Given the description of an element on the screen output the (x, y) to click on. 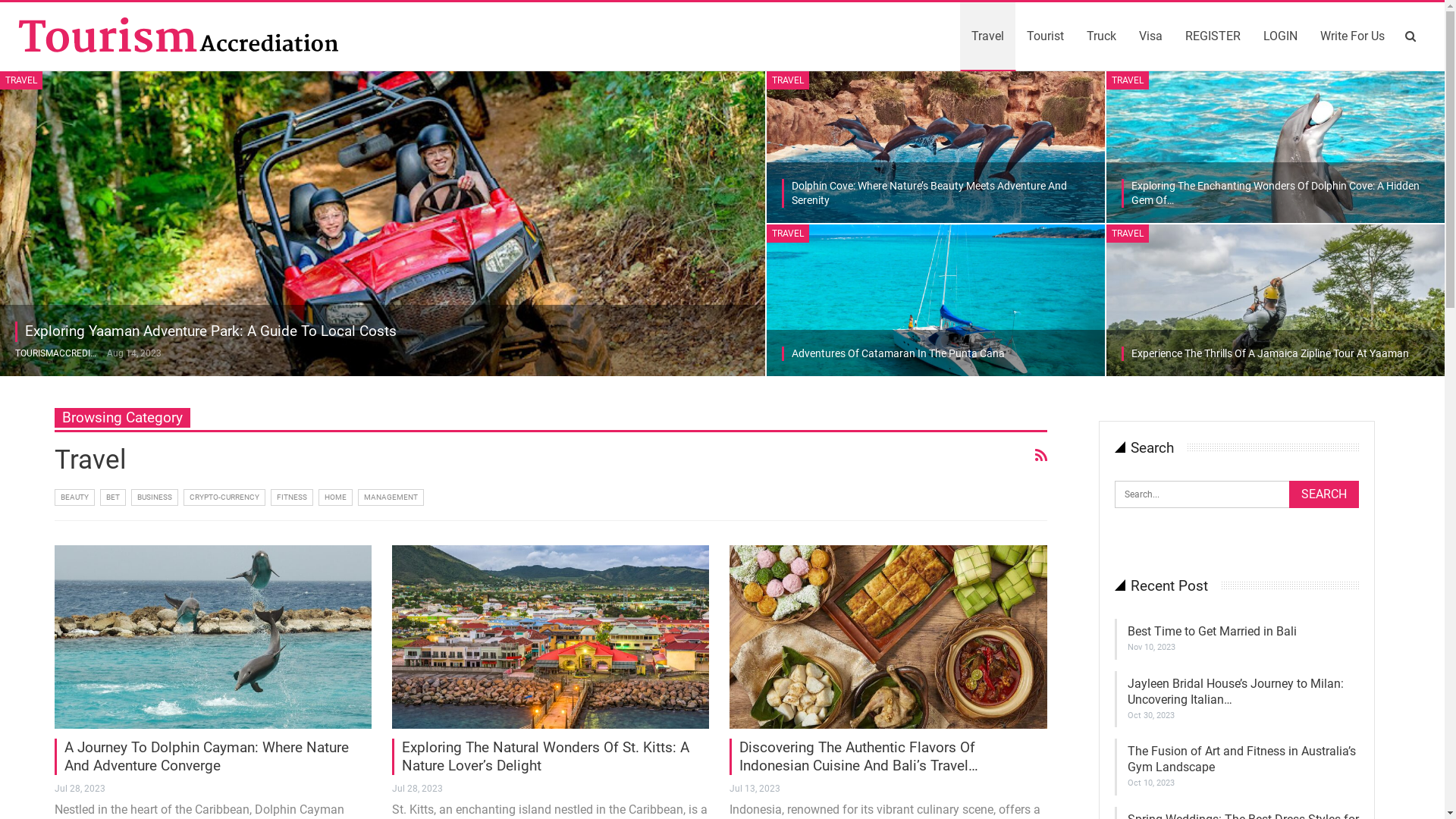
TRAVEL Element type: text (1127, 80)
BEAUTY Element type: text (74, 497)
Exploring Yaaman Adventure Park: A Guide To Local Costs Element type: text (210, 330)
BUSINESS Element type: text (154, 497)
Experience The Thrills Of A Jamaica Zipline Tour At Yaaman Element type: text (1269, 353)
Experience the Thrills of a Jamaica Zipline Tour at Yaaman Element type: hover (1275, 299)
REGISTER Element type: text (1212, 36)
FITNESS Element type: text (291, 497)
Search for: Element type: hover (1236, 494)
Tourist Element type: text (1045, 36)
TRAVEL Element type: text (787, 233)
CRYPTO-CURRENCY Element type: text (224, 497)
Travel Element type: text (987, 36)
TRAVEL Element type: text (1127, 233)
Write For Us Element type: text (1352, 36)
TRAVEL Element type: text (787, 80)
LOGIN Element type: text (1280, 36)
BET Element type: text (112, 497)
Truck Element type: text (1101, 36)
Adventures Of Catamaran In The Punta Cana Element type: text (897, 353)
Search Element type: text (1323, 494)
Best Time to Get Married in Bali Element type: text (1211, 631)
Visa Element type: text (1150, 36)
Adventures Of Catamaran In The Punta Cana Element type: hover (935, 299)
HOME Element type: text (335, 497)
TOURISMACCREDITATION Element type: text (60, 353)
TRAVEL Element type: text (21, 80)
MANAGEMENT Element type: text (390, 497)
